Given the description of an element on the screen output the (x, y) to click on. 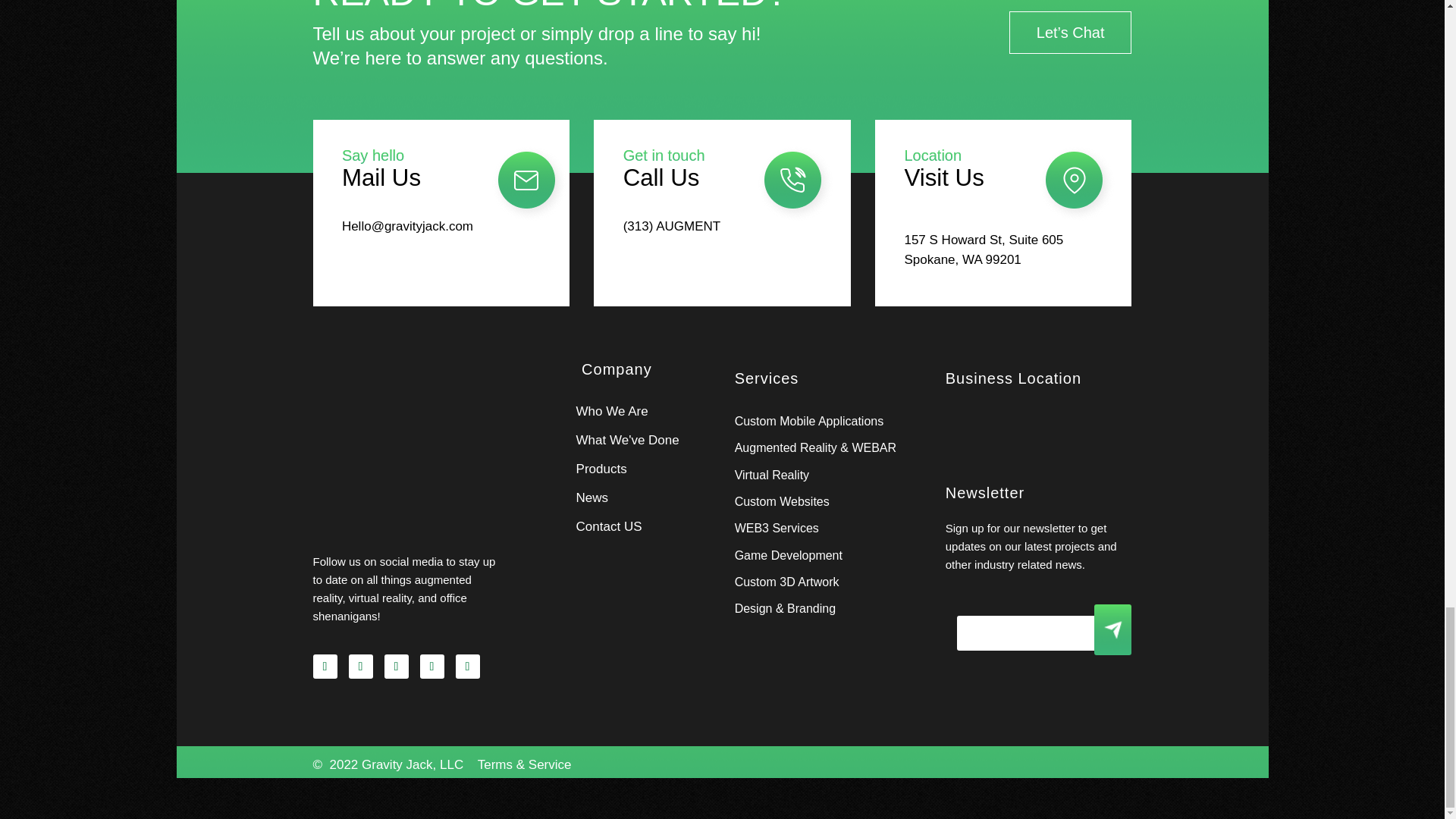
Follow on Youtube (466, 666)
Follow on LinkedIn (432, 666)
Follow on Facebook (324, 666)
Follow on Instagram (360, 666)
Follow on Twitter (395, 666)
